Given the description of an element on the screen output the (x, y) to click on. 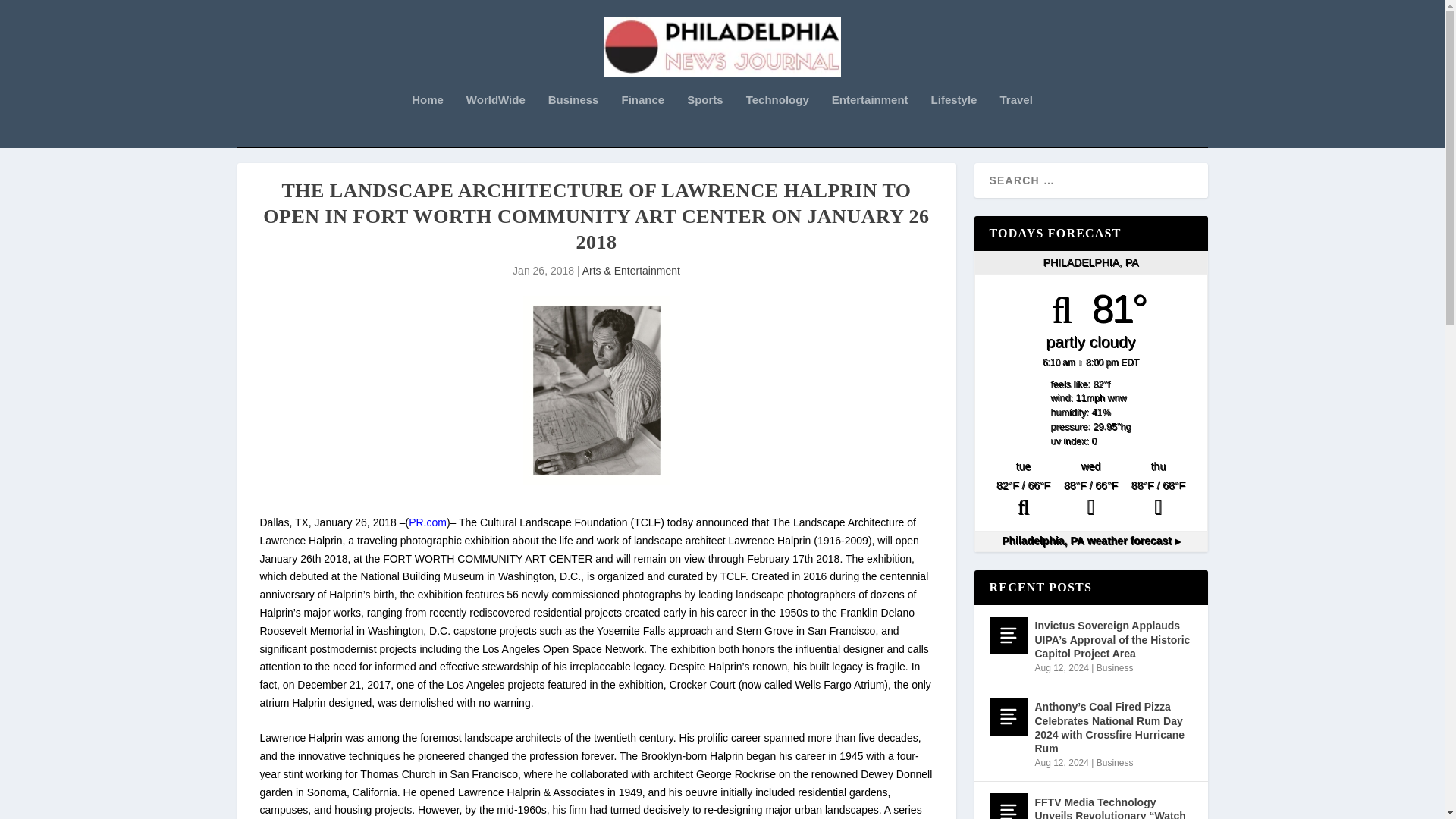
WorldWide (495, 120)
Entertainment (869, 120)
Business (573, 120)
Search (31, 13)
Mostly Sunny (1090, 498)
Technology (777, 120)
Partly Cloudy (1023, 498)
PR.com (427, 522)
Philadelphia, PA - Weather forecast (1090, 540)
Mostly Sunny (1158, 498)
